Given the description of an element on the screen output the (x, y) to click on. 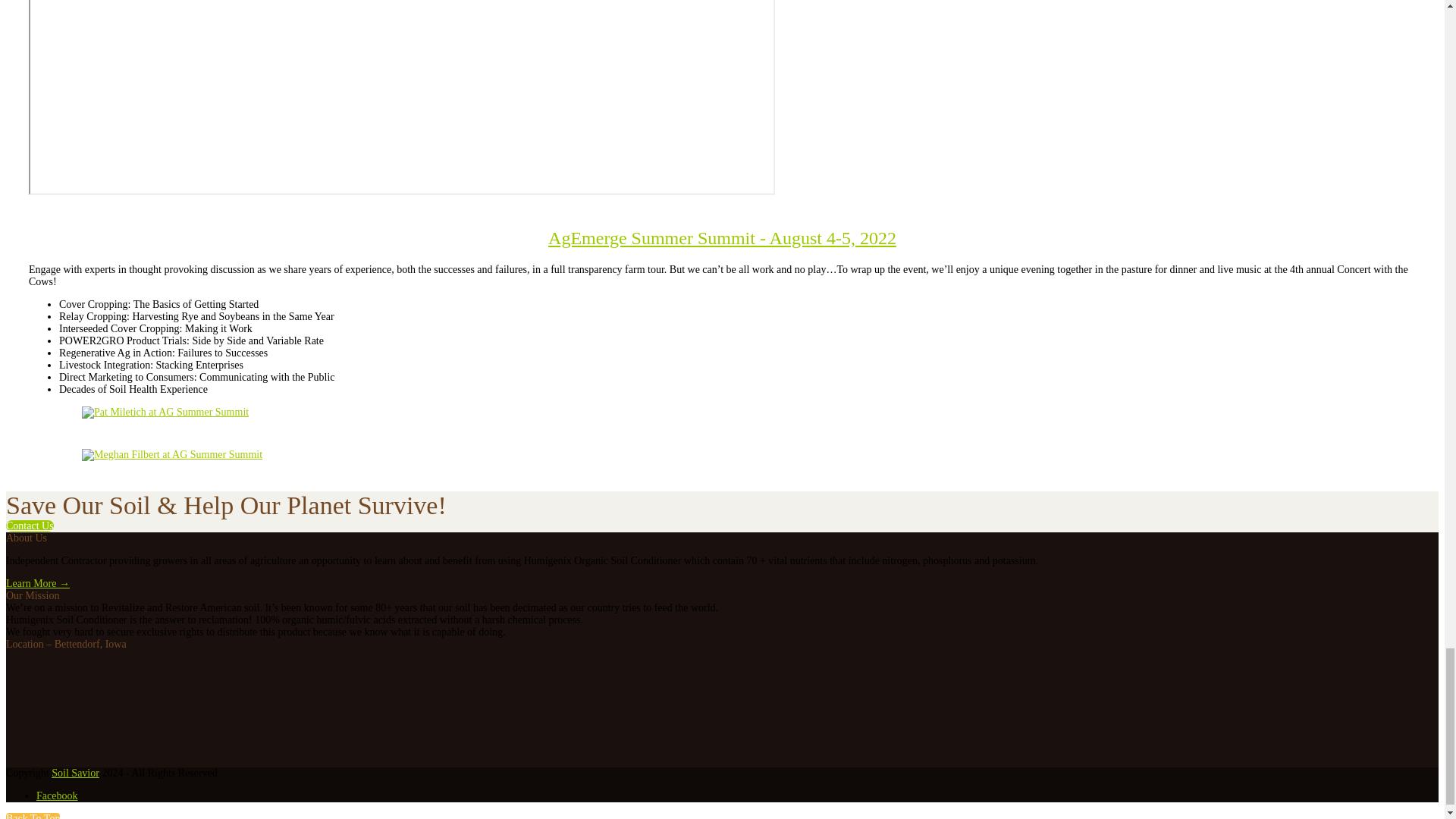
Facebook (56, 795)
AgEmerge Summer Summit - August 4-5, 2022 (722, 238)
About Us (37, 583)
Soil Savior (74, 772)
Meghan-Summer-Summit-2022 (171, 454)
Pat-Summer-Summit-2022 (164, 412)
Contact Us (29, 525)
